Given the description of an element on the screen output the (x, y) to click on. 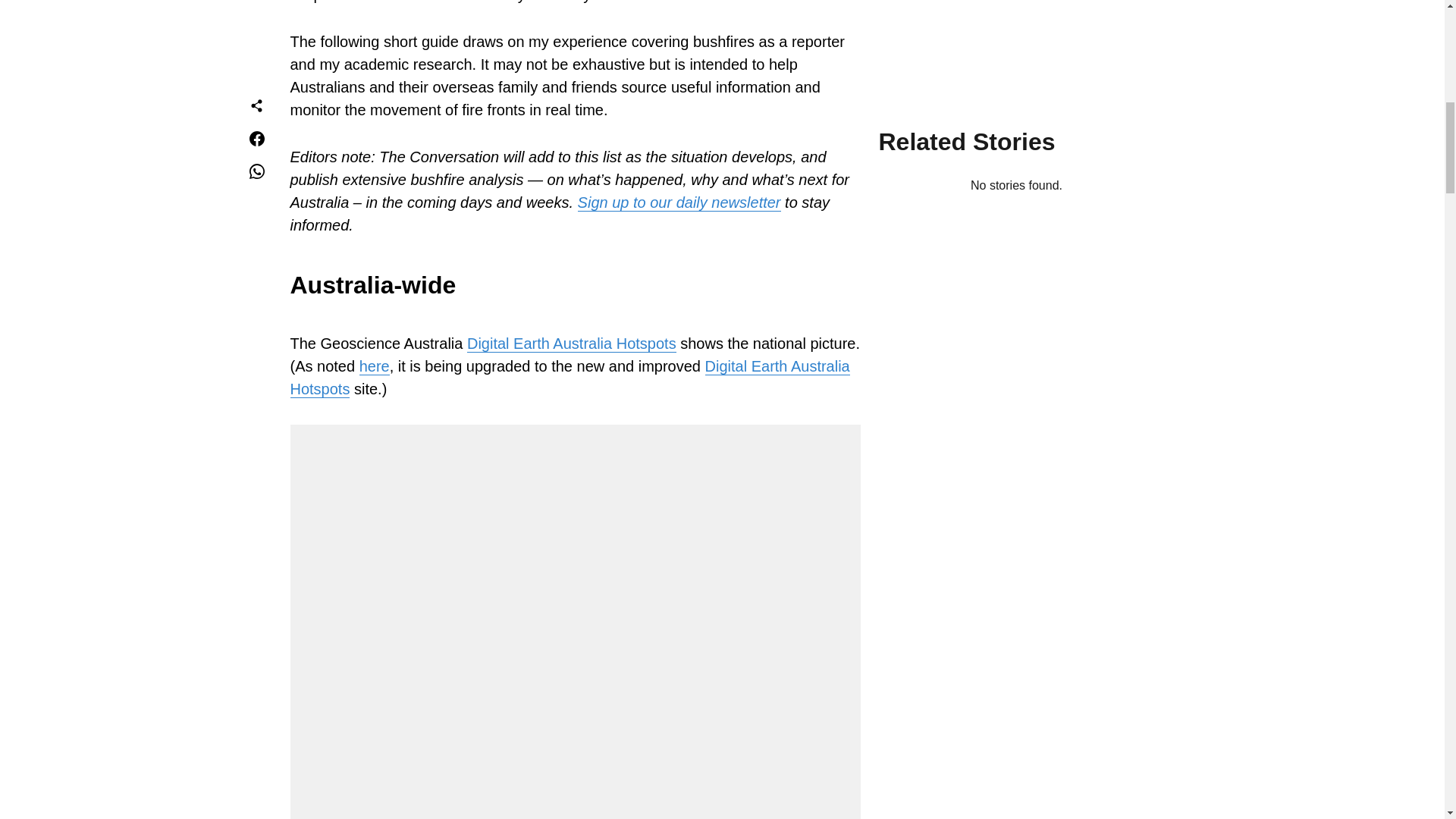
Digital Earth Australia Hotspots (572, 343)
here (374, 366)
Sign up to our daily newsletter (679, 202)
Digital Earth Australia Hotspots (568, 377)
